Given the description of an element on the screen output the (x, y) to click on. 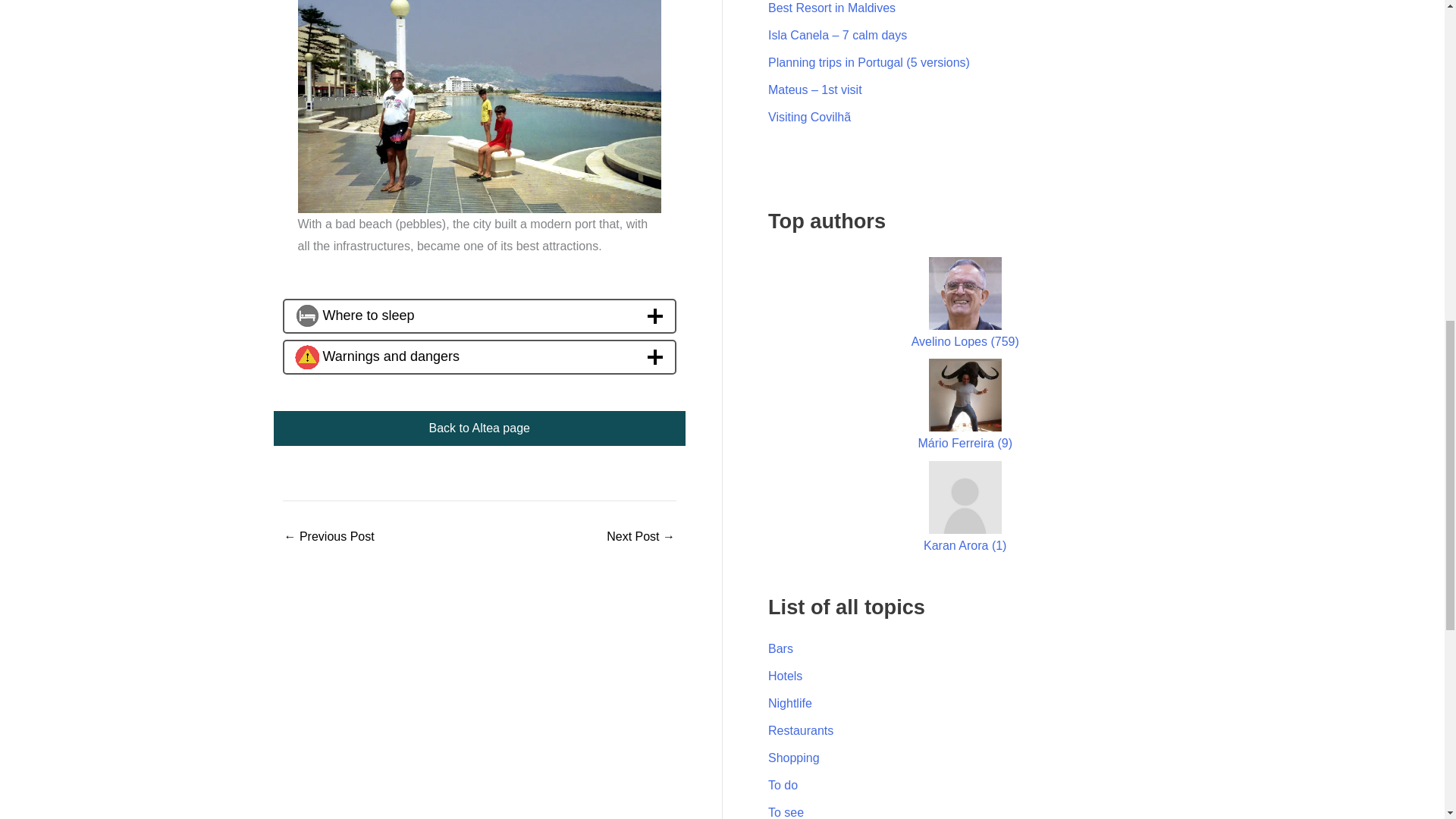
Altea - 7 Great days 13 (306, 356)
Imagem (479, 106)
Where to sleep (479, 315)
Altea - 7 Great days 7 (306, 315)
Ciudad Rodrigo - 2 good visits (641, 536)
Simancas (328, 536)
